Given the description of an element on the screen output the (x, y) to click on. 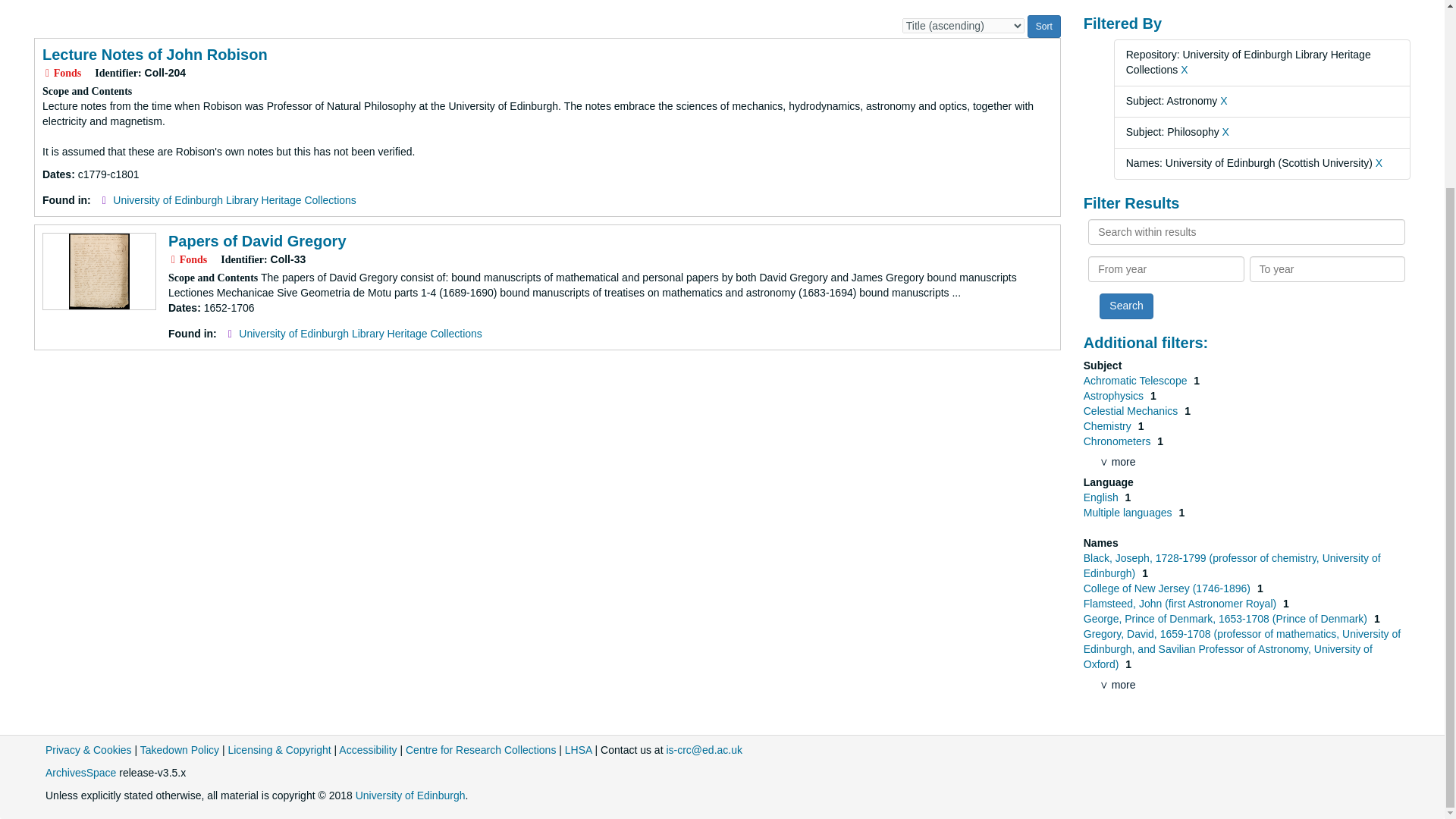
Celestial Mechanics (1131, 410)
Achromatic Telescope (1137, 380)
Filter By 'Celestial Mechanics' (1131, 410)
Filter By 'Achromatic Telescope' (1137, 380)
Filter By 'Chemistry' (1108, 426)
University of Edinburgh Library Heritage Collections (359, 333)
Filter By 'Astrophysics' (1115, 395)
Search (1126, 306)
Sort (1044, 26)
Sort (1044, 26)
Filter By 'Chronometers' (1118, 440)
Astrophysics (1115, 395)
University of Edinburgh Library Heritage Collections (234, 200)
Chemistry (1108, 426)
Lecture Notes of John Robison (154, 54)
